Given the description of an element on the screen output the (x, y) to click on. 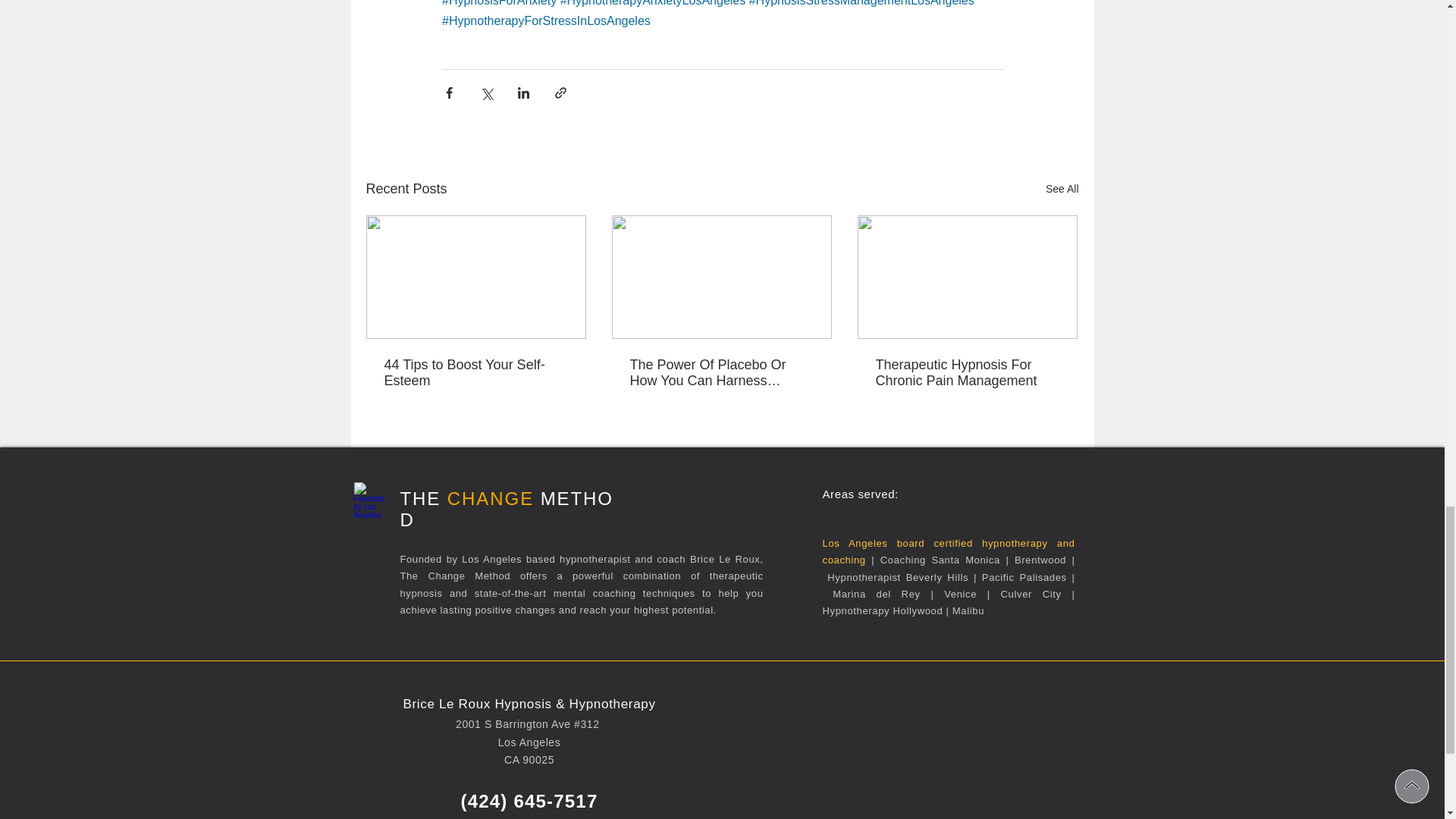
Therapeutic Hypnosis For Chronic Pain Management (966, 373)
See All (1061, 188)
44 Tips to Boost Your Self-Esteem (475, 373)
